Given the description of an element on the screen output the (x, y) to click on. 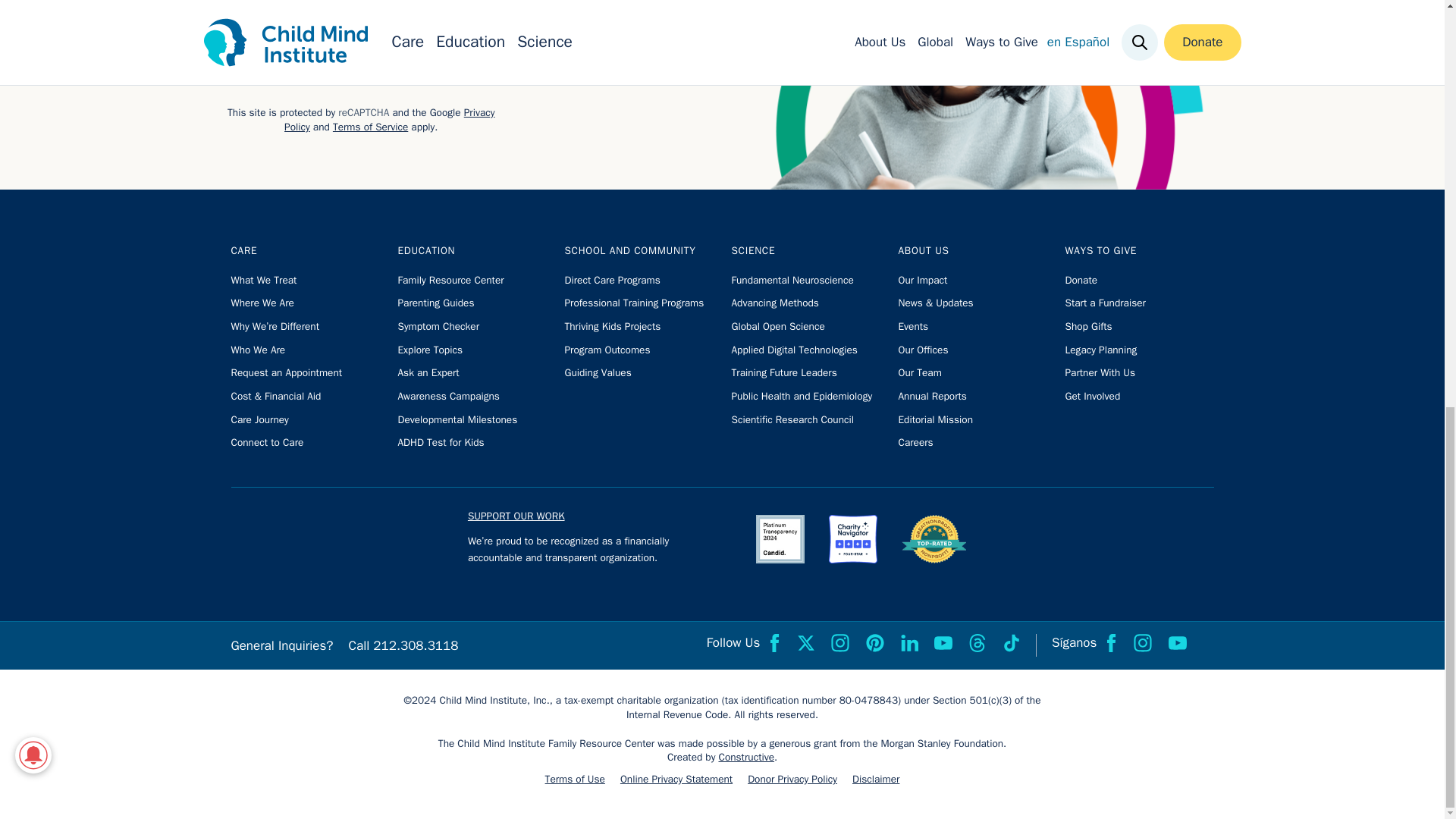
Support Our Work  (515, 521)
Sign Up (490, 45)
